Given the description of an element on the screen output the (x, y) to click on. 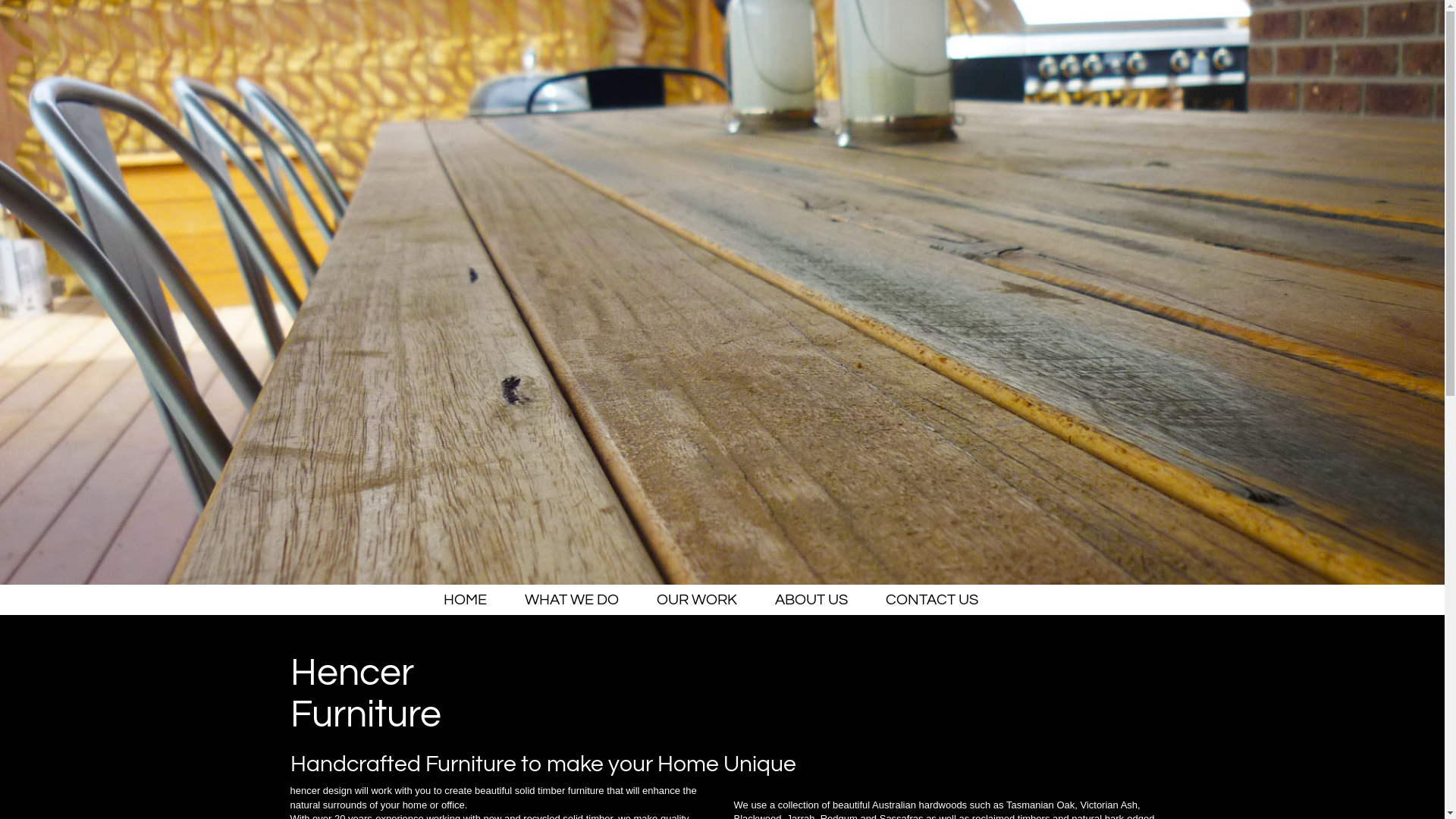
WHAT WE DO Element type: text (571, 599)
OUR WORK Element type: text (696, 599)
ABOUT US Element type: text (811, 599)
CONTACT US Element type: text (931, 599)
HOME Element type: text (464, 599)
